Given the description of an element on the screen output the (x, y) to click on. 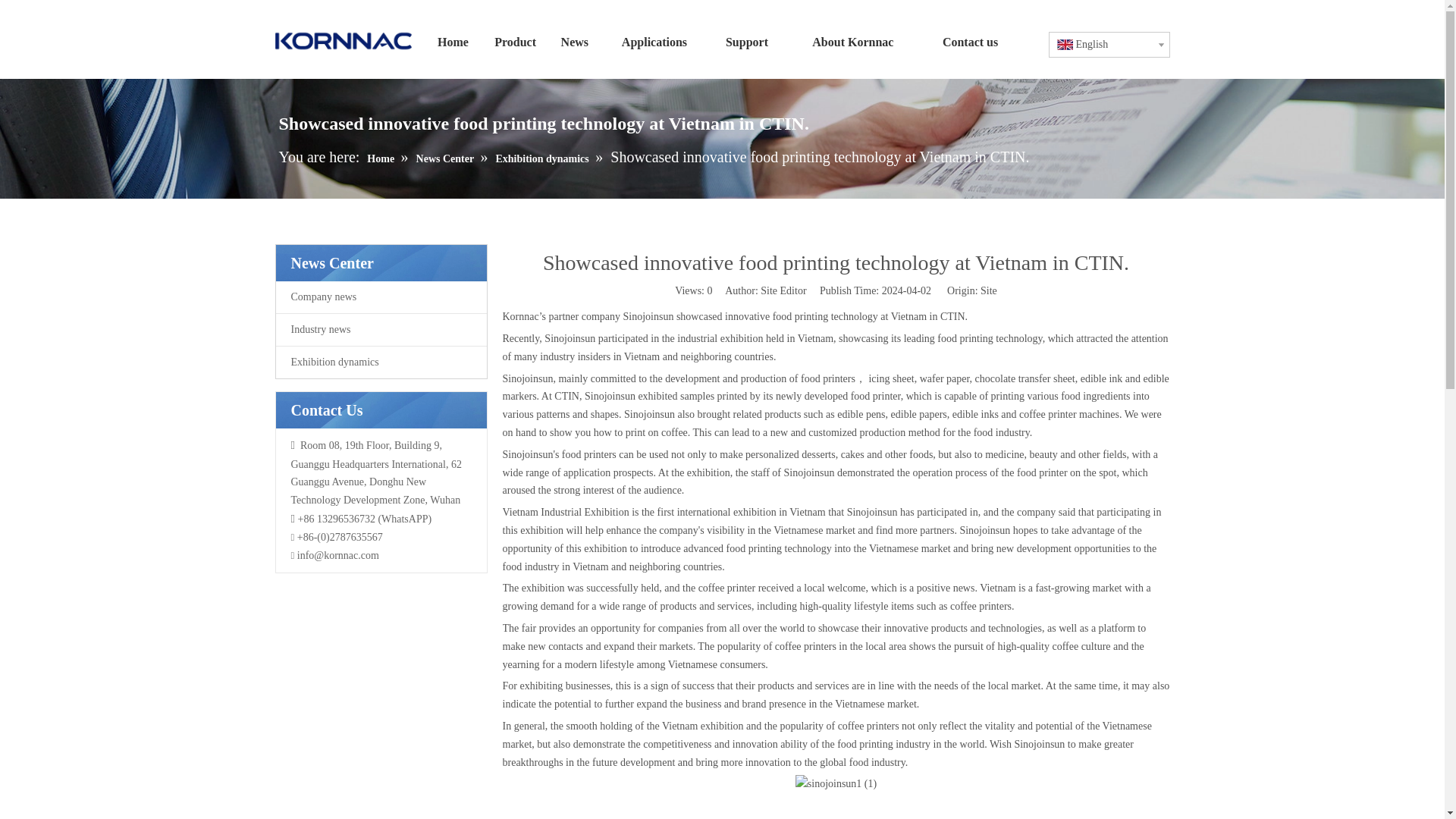
Product (515, 42)
kornnac (342, 40)
Company news (381, 296)
Exhibition dynamics (381, 362)
News (574, 42)
Industry news (381, 329)
Home (452, 42)
Applications (654, 42)
Support (746, 42)
Contact us (970, 42)
About Kornnac (853, 42)
